Given the description of an element on the screen output the (x, y) to click on. 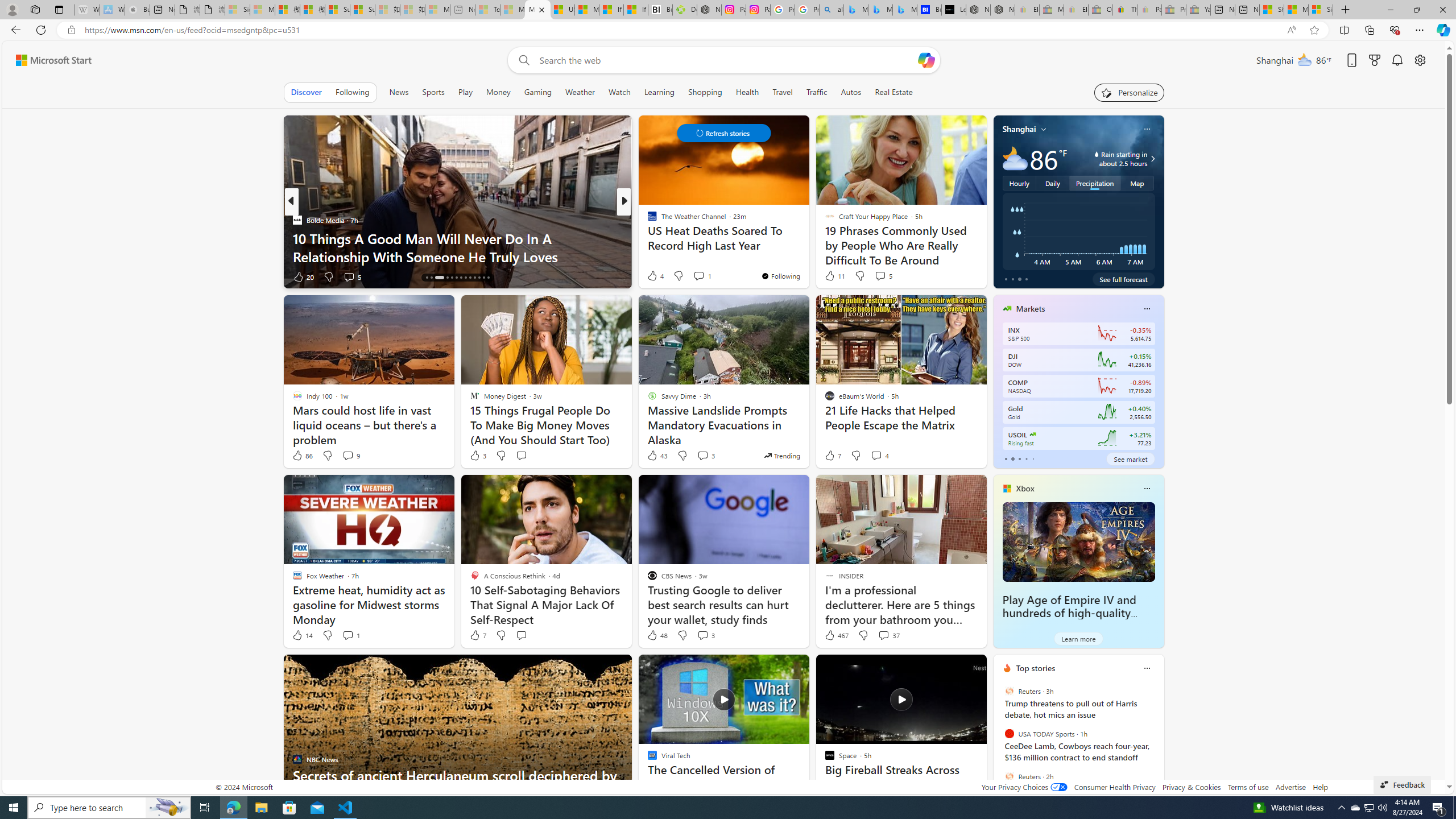
This story is trending (781, 455)
Marine life - MSN - Sleeping (512, 9)
tab-1 (1012, 458)
Rain starting in about 2.5 hours (1150, 158)
View comments 9 Comment (350, 455)
PC World (647, 219)
Shanghai, China hourly forecast | Microsoft Weather (1271, 9)
Travel (782, 92)
Gaming (537, 92)
Personalize your feed" (1129, 92)
